Given the description of an element on the screen output the (x, y) to click on. 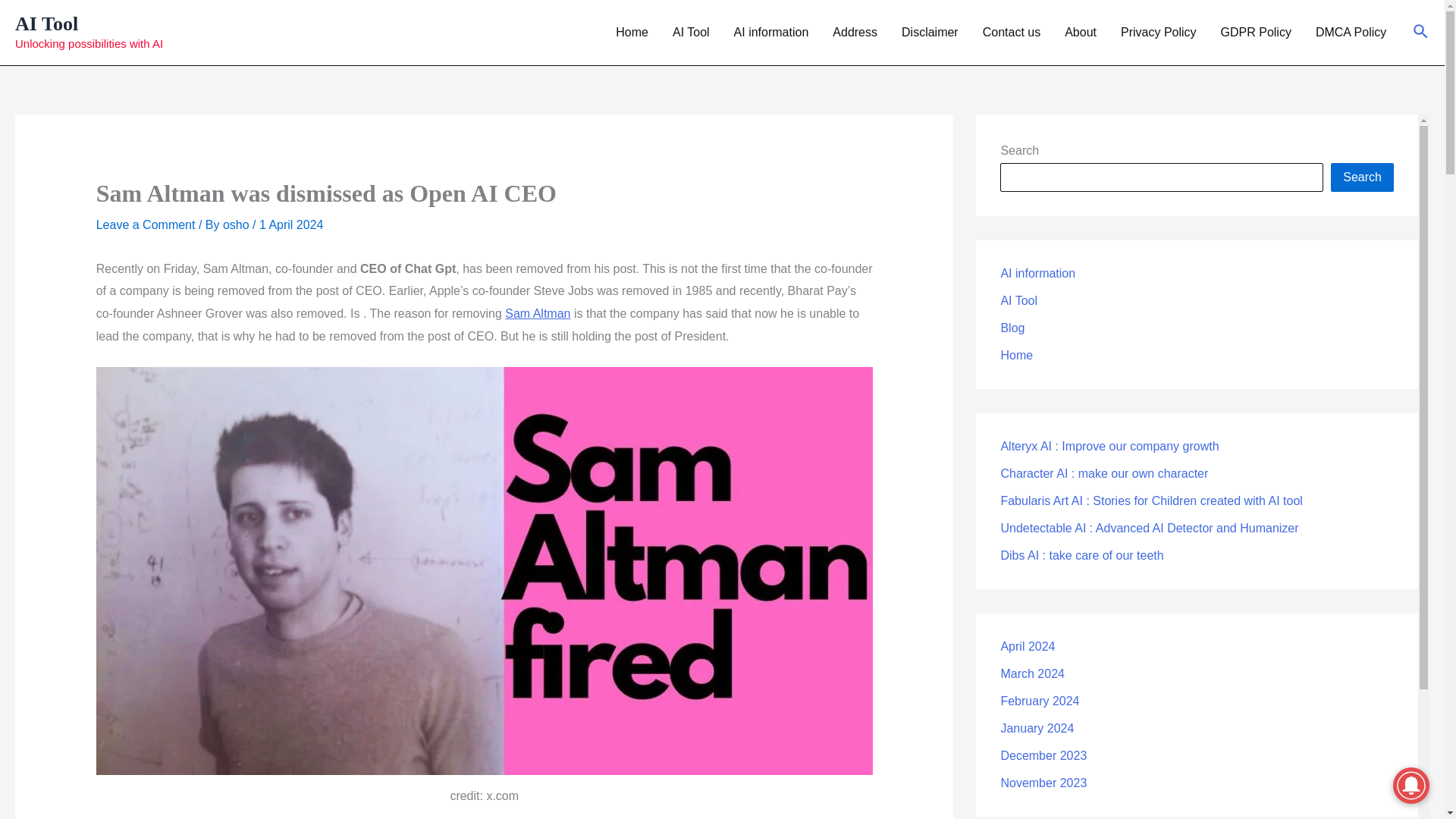
View all posts by osho (236, 224)
AI Tool (691, 32)
Address (855, 32)
Privacy Policy (1158, 32)
GDPR Policy (1255, 32)
Leave a Comment (145, 224)
Home (632, 32)
DMCA Policy (1350, 32)
Contact us (1011, 32)
osho (236, 224)
Disclaimer (930, 32)
AI information (771, 32)
AI Tool (46, 24)
About (1080, 32)
Sam Altman (537, 313)
